Given the description of an element on the screen output the (x, y) to click on. 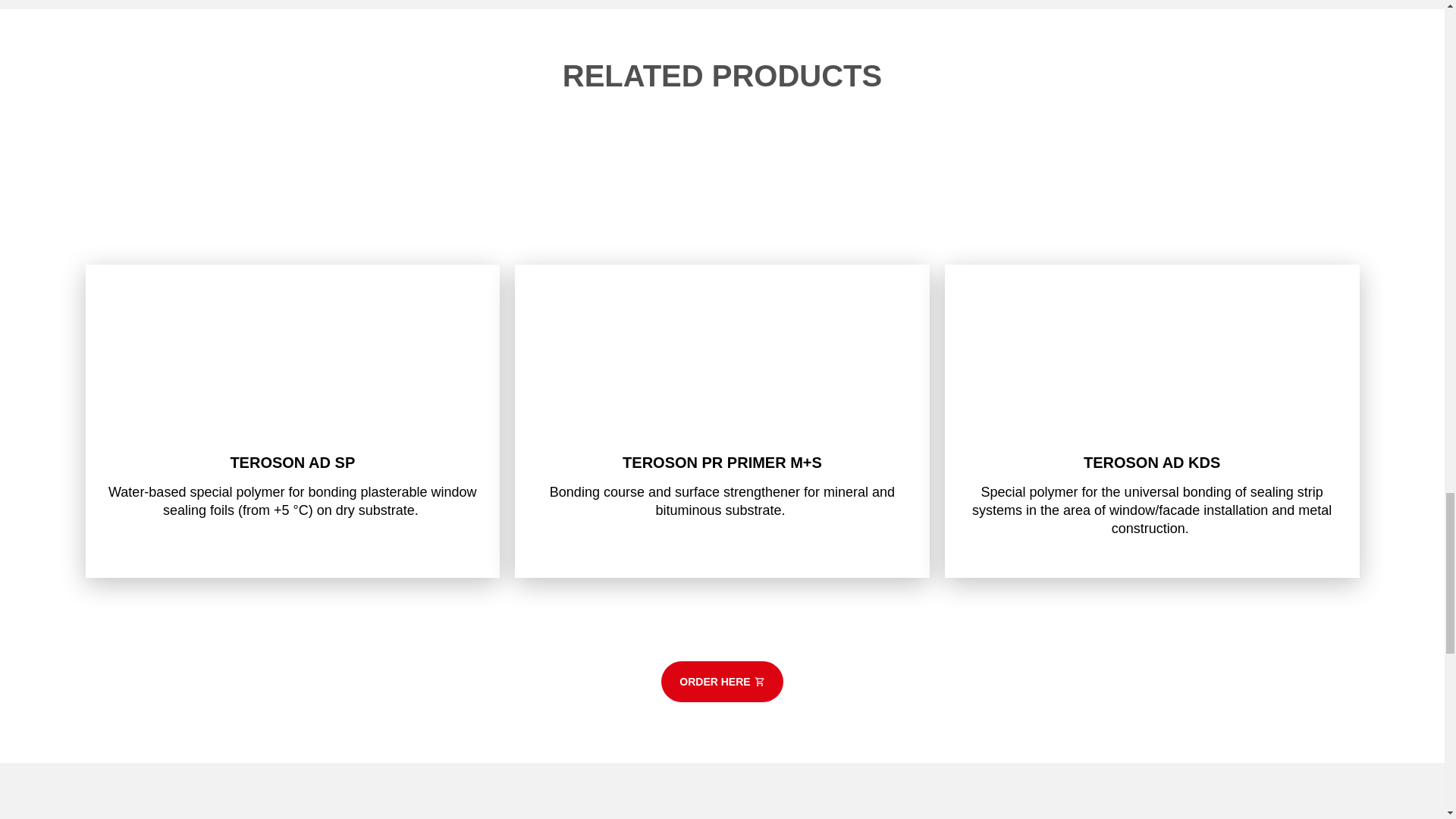
ORDER HERE (722, 680)
